Given the description of an element on the screen output the (x, y) to click on. 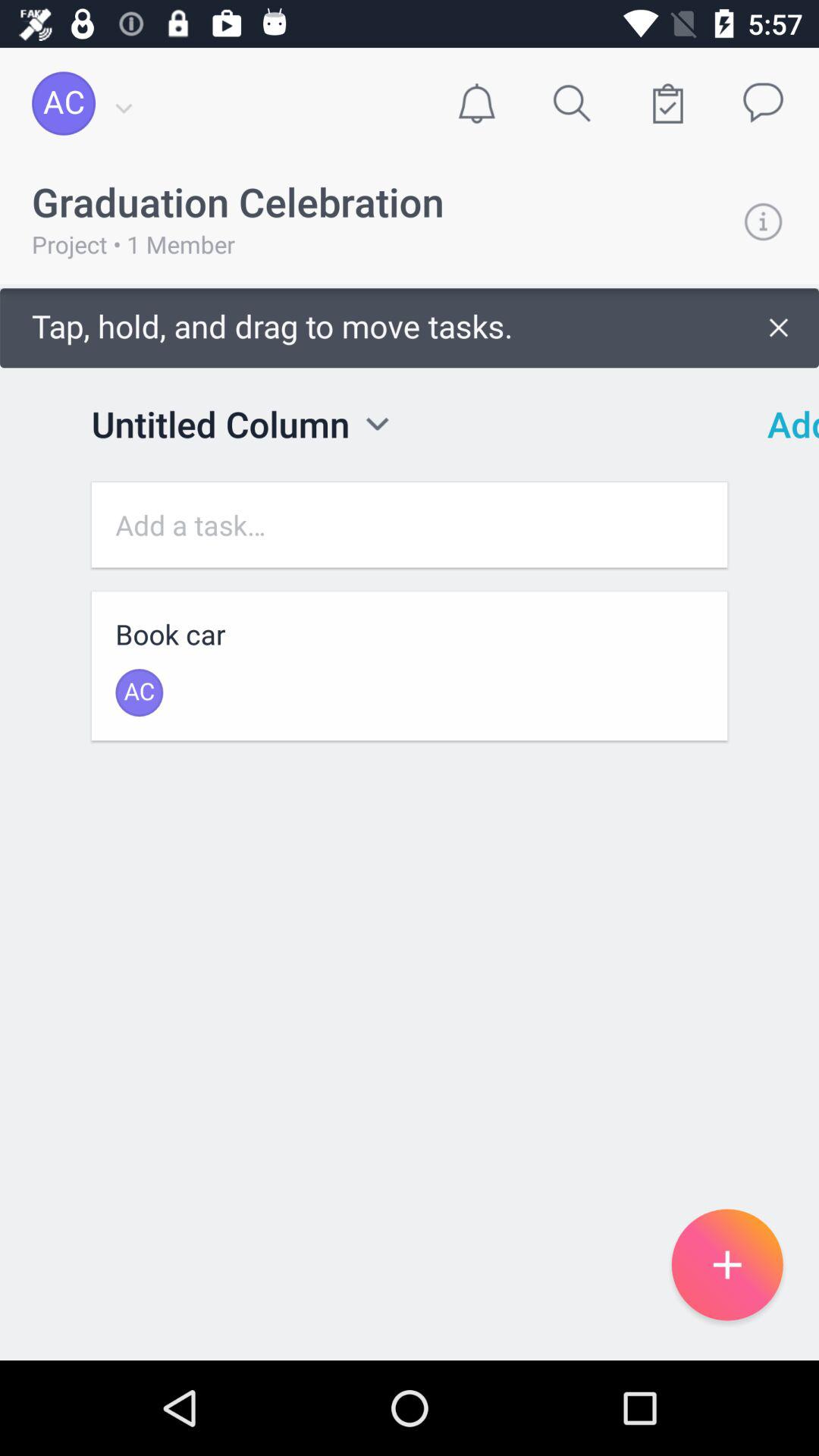
view information (763, 221)
